Given the description of an element on the screen output the (x, y) to click on. 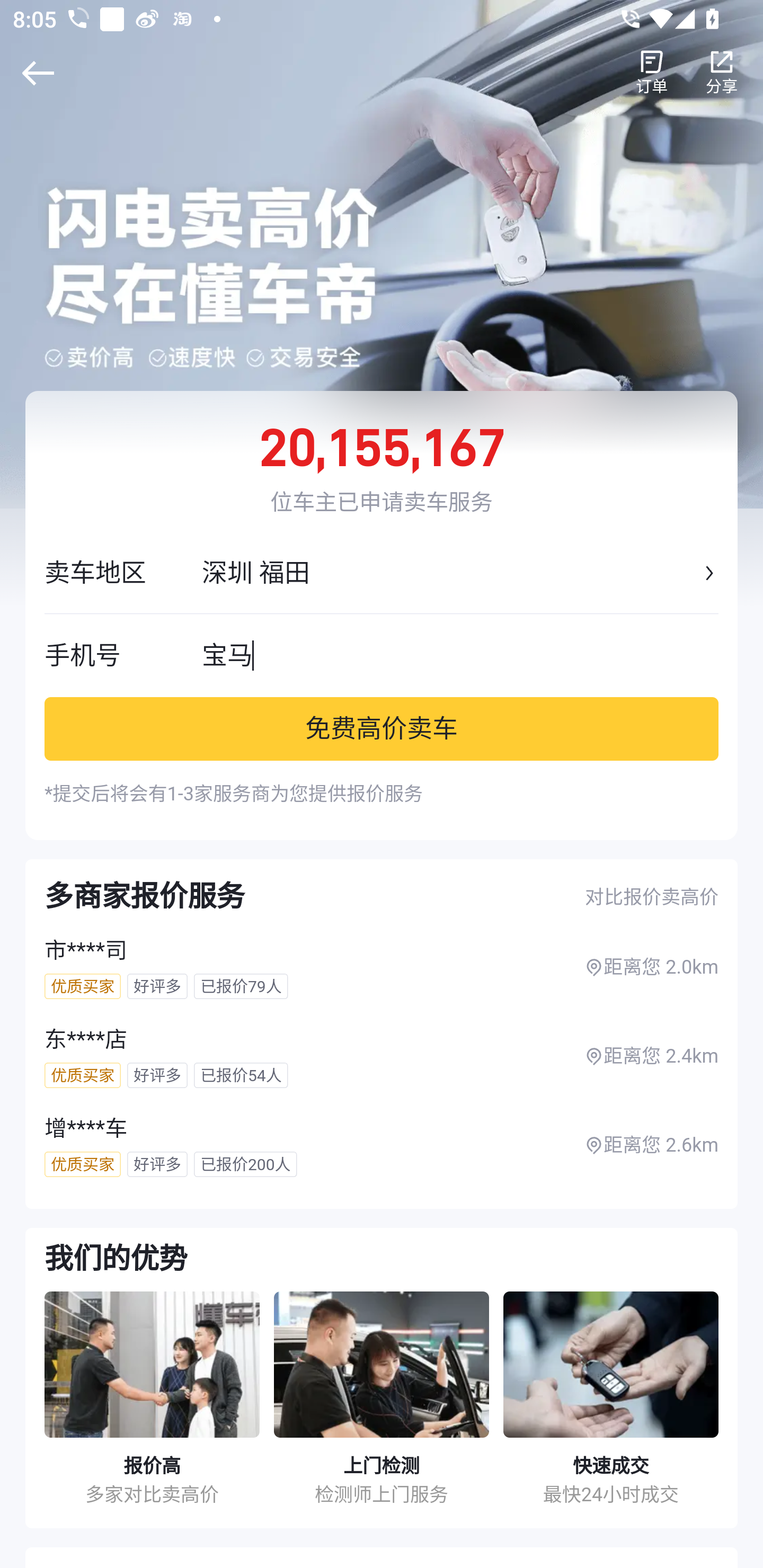
订单 (651, 72)
分享 (721, 72)
深圳 福田 (450, 572)
宝马 (460, 655)
免费高价卖车 (381, 728)
